Given the description of an element on the screen output the (x, y) to click on. 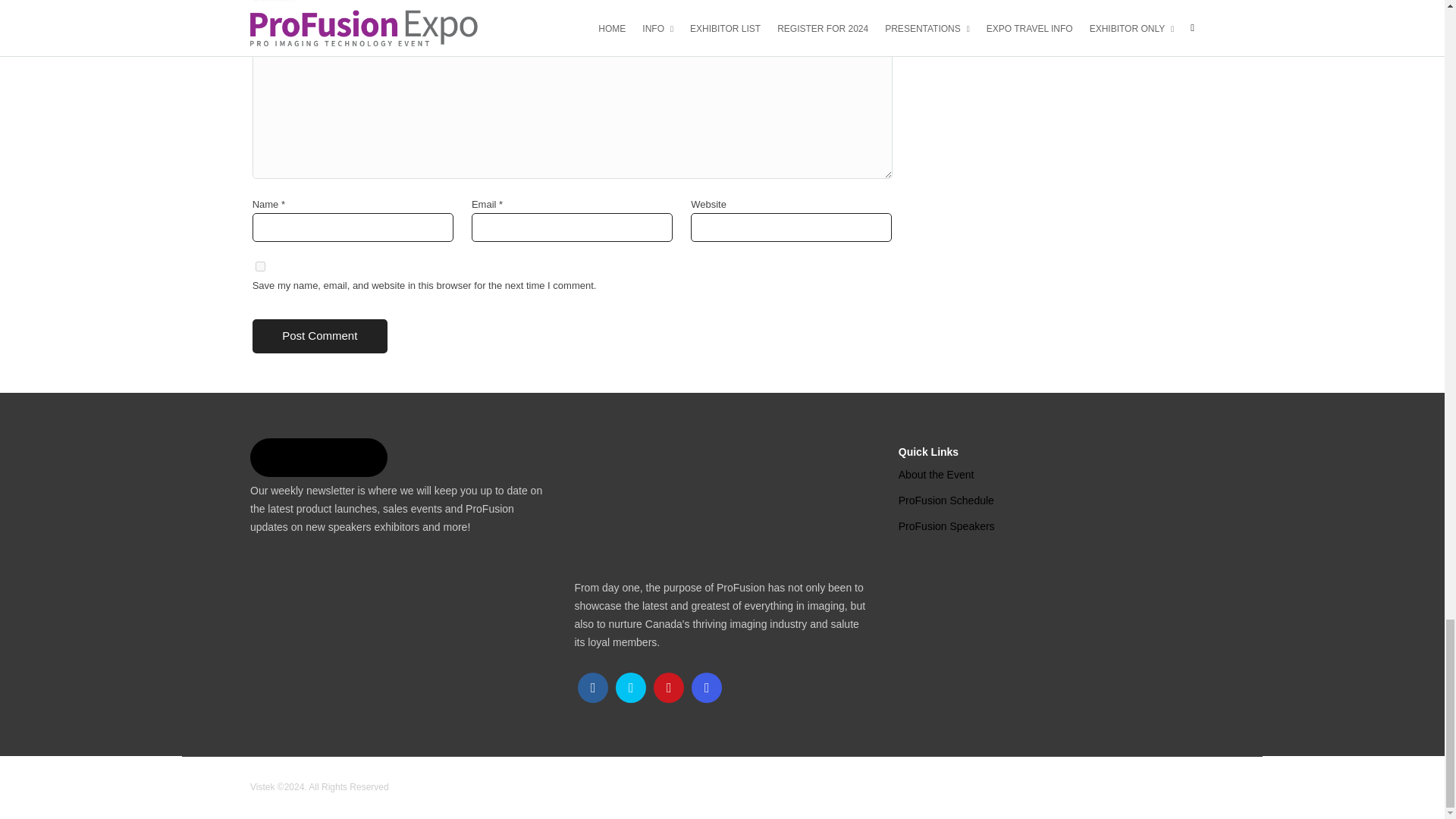
yes (260, 266)
Facebook (593, 687)
Post Comment (319, 335)
Youtube (668, 687)
Twitter (630, 687)
